Given the description of an element on the screen output the (x, y) to click on. 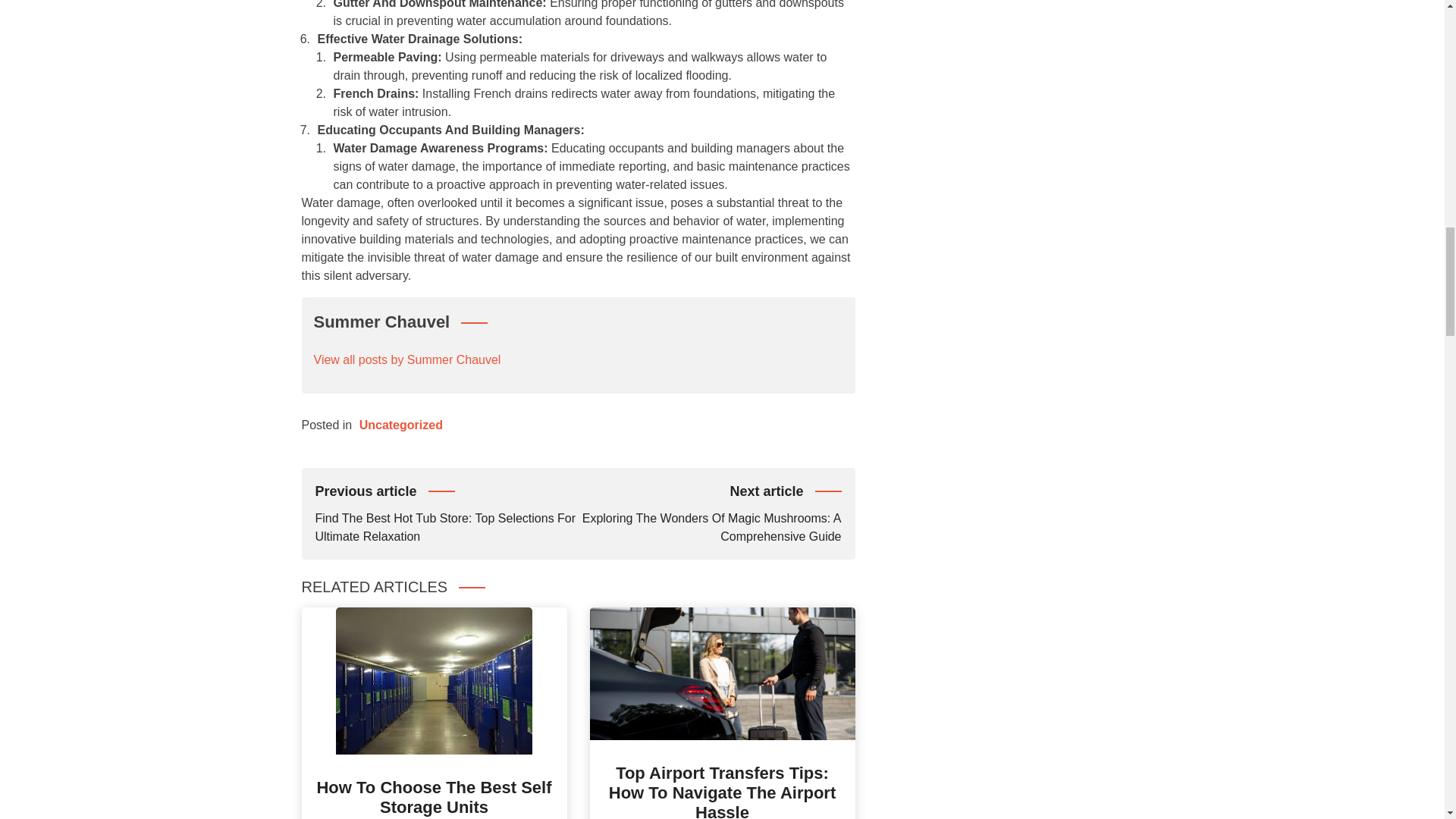
Uncategorized (400, 424)
View all posts by Summer Chauvel (407, 359)
How To Choose The Best Self Storage Units (433, 797)
